Given the description of an element on the screen output the (x, y) to click on. 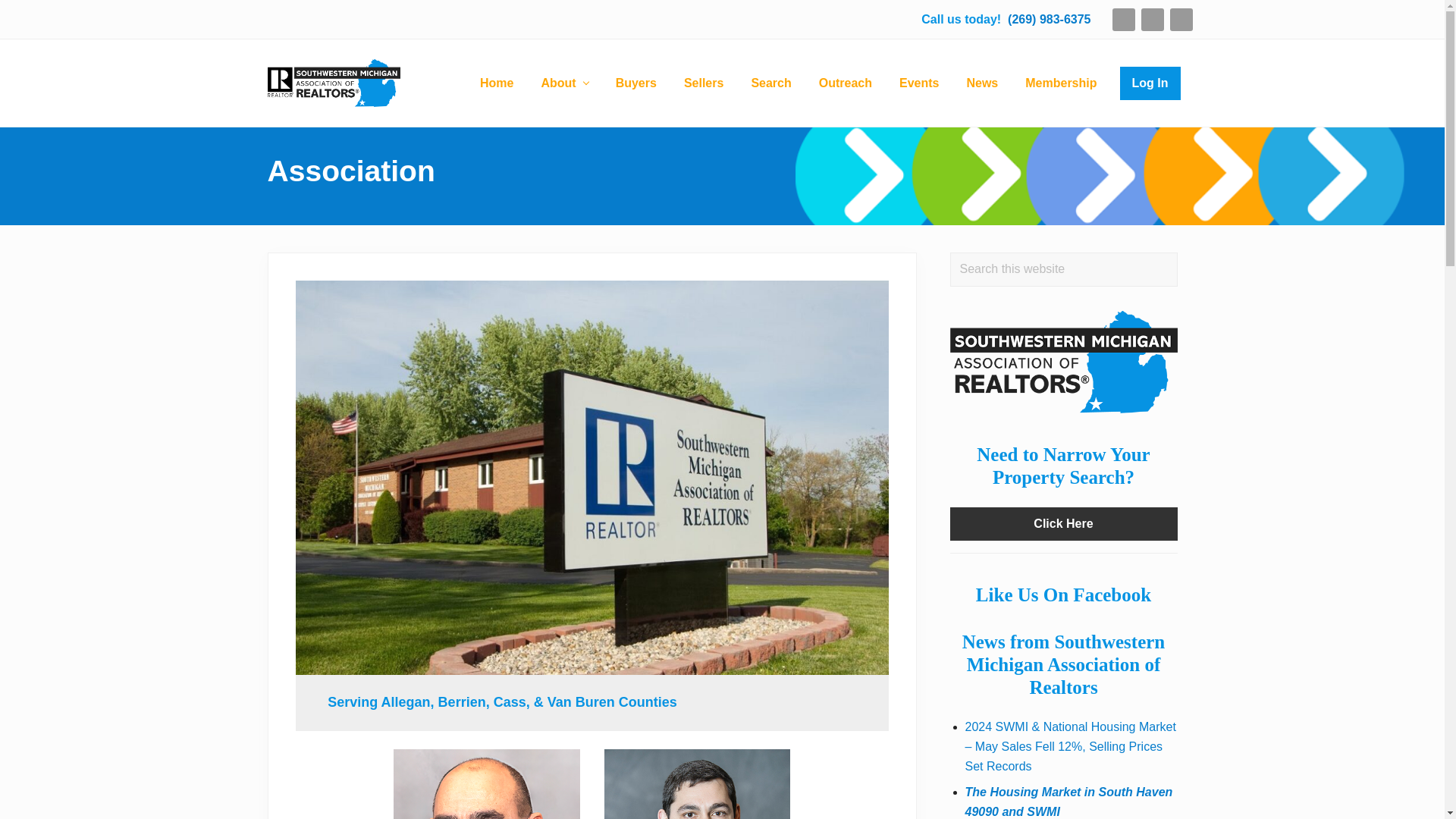
Search (770, 82)
Events (918, 82)
Membership (1060, 82)
Outreach (844, 82)
Home (496, 82)
Log In (1149, 82)
Facebook (1151, 19)
News (981, 82)
Phone (1180, 19)
Email (1123, 19)
About (563, 82)
Buyers (636, 82)
